Given the description of an element on the screen output the (x, y) to click on. 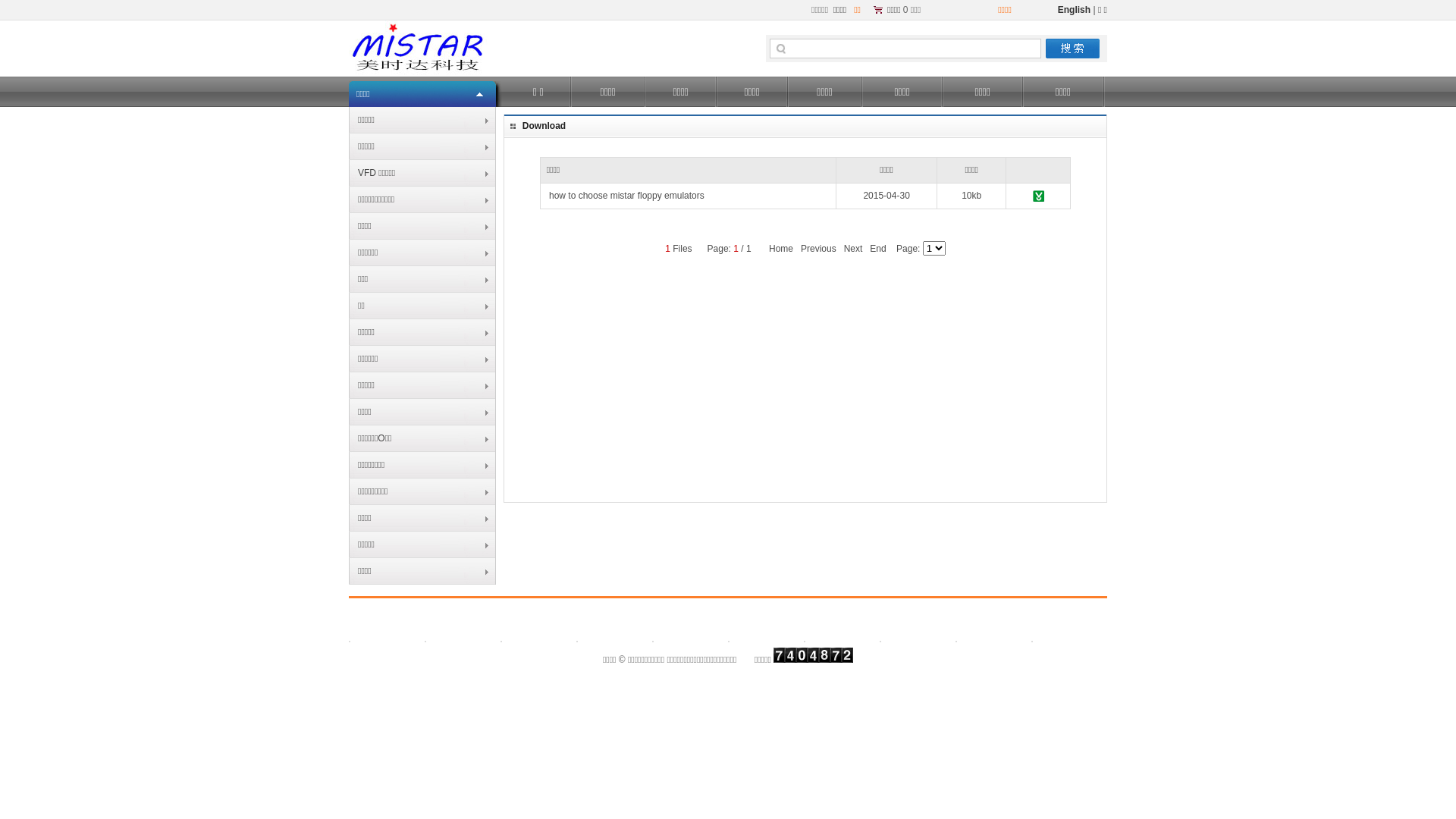
English Element type: text (1073, 9)
